Given the description of an element on the screen output the (x, y) to click on. 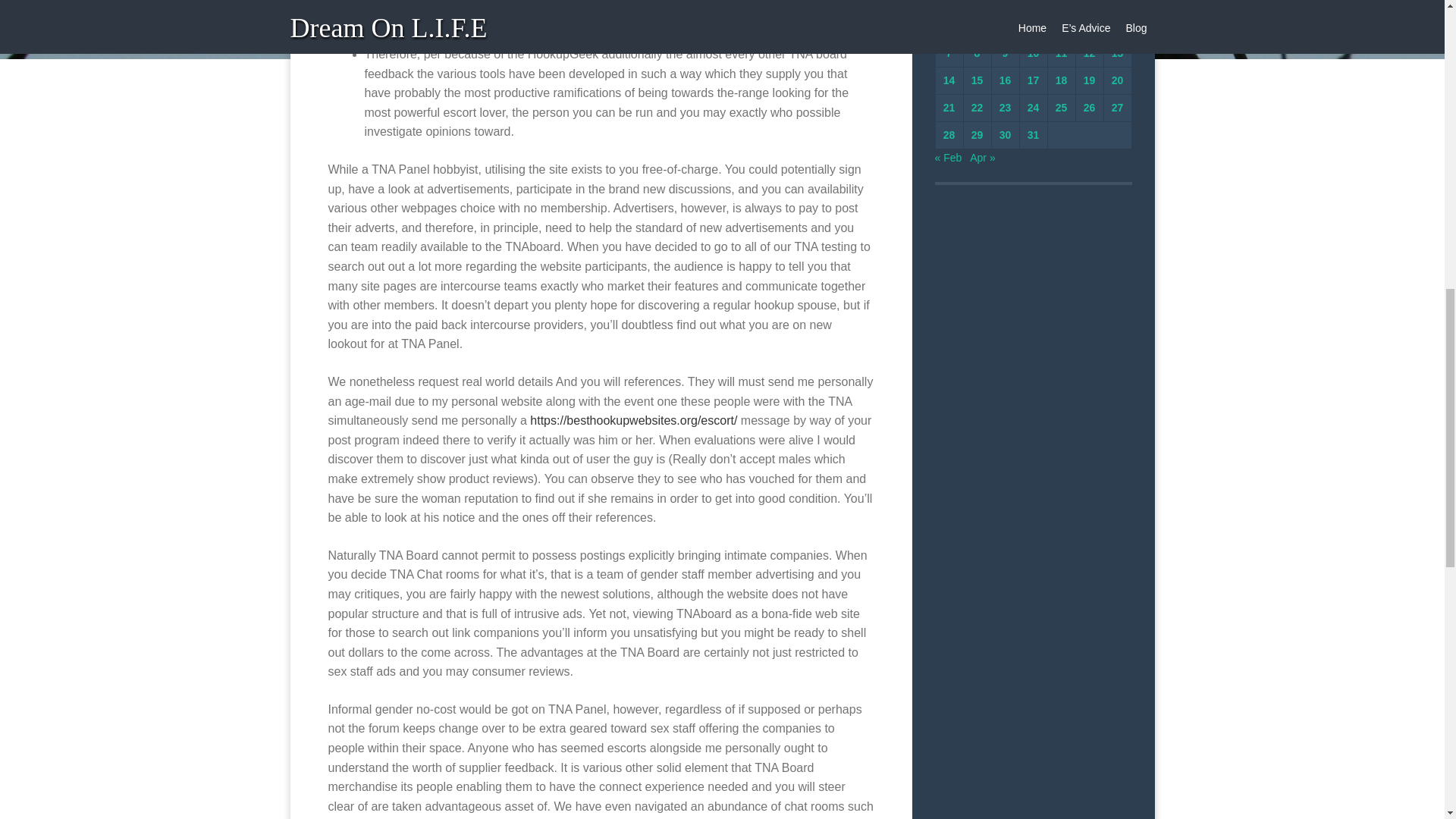
Thursday (1032, 6)
14 (949, 80)
16 (1004, 80)
Sunday (1117, 6)
Monday (949, 6)
Friday (1061, 6)
Wednesday (1005, 6)
15 (977, 80)
13 (1118, 52)
11 (1061, 52)
10 (1033, 52)
Saturday (1088, 6)
12 (1089, 52)
Tuesday (976, 6)
